Given the description of an element on the screen output the (x, y) to click on. 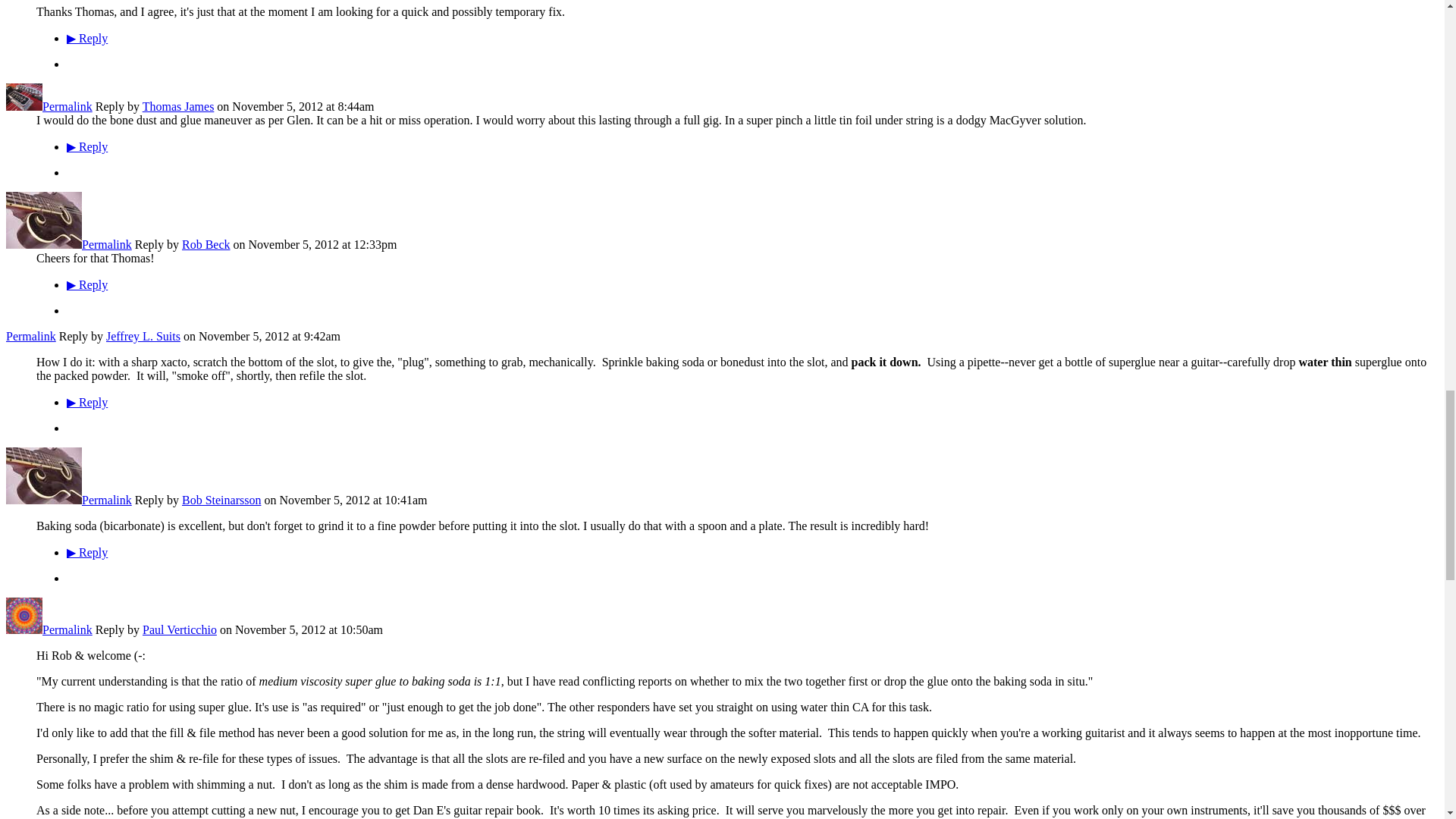
Permalink to this Reply (67, 106)
Thomas James (23, 106)
